Given the description of an element on the screen output the (x, y) to click on. 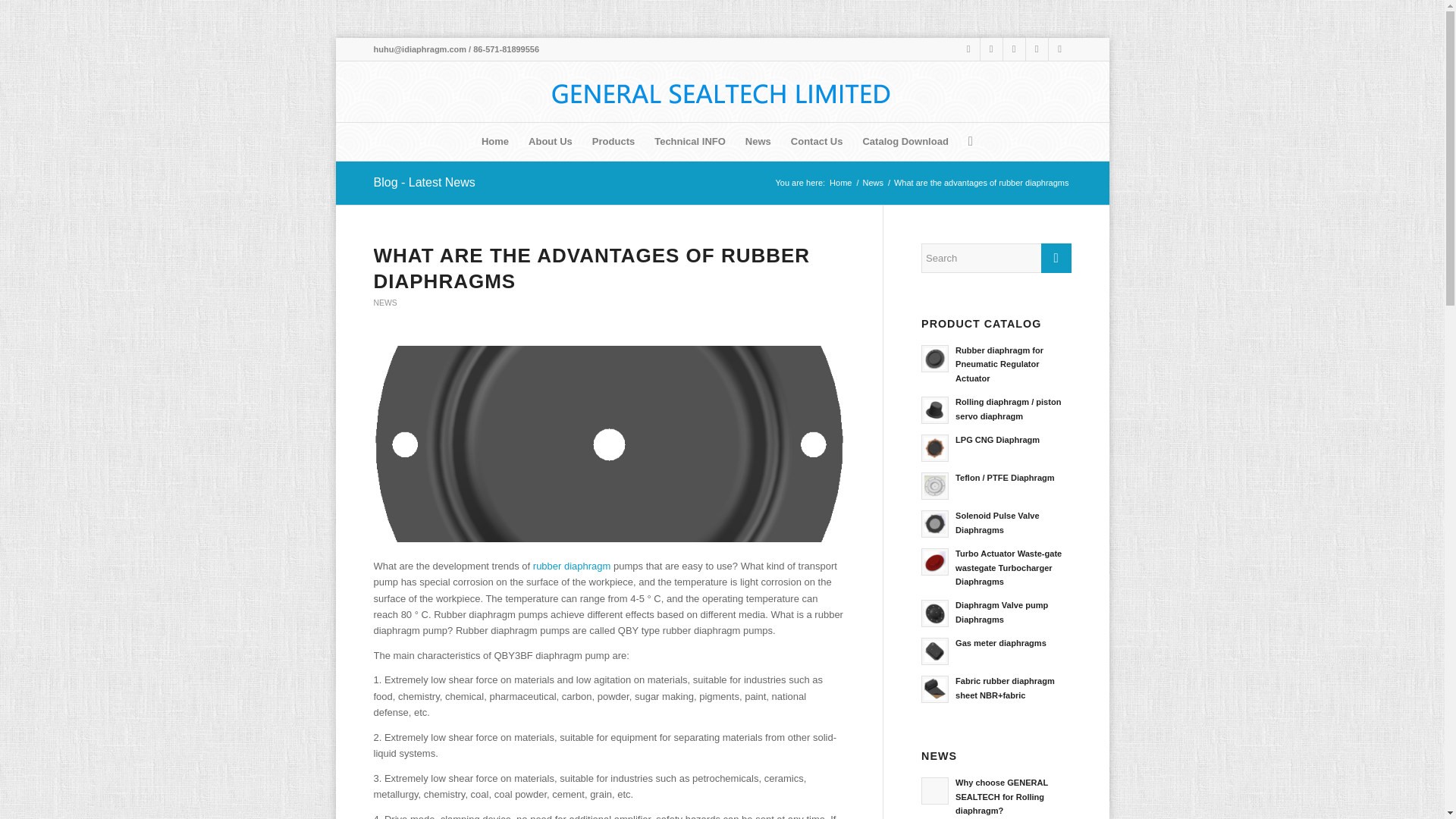
Home (494, 141)
About Us (550, 141)
Products (613, 141)
Technical INFO (690, 141)
Permanent Link: Blog - Latest News (423, 182)
